Given the description of an element on the screen output the (x, y) to click on. 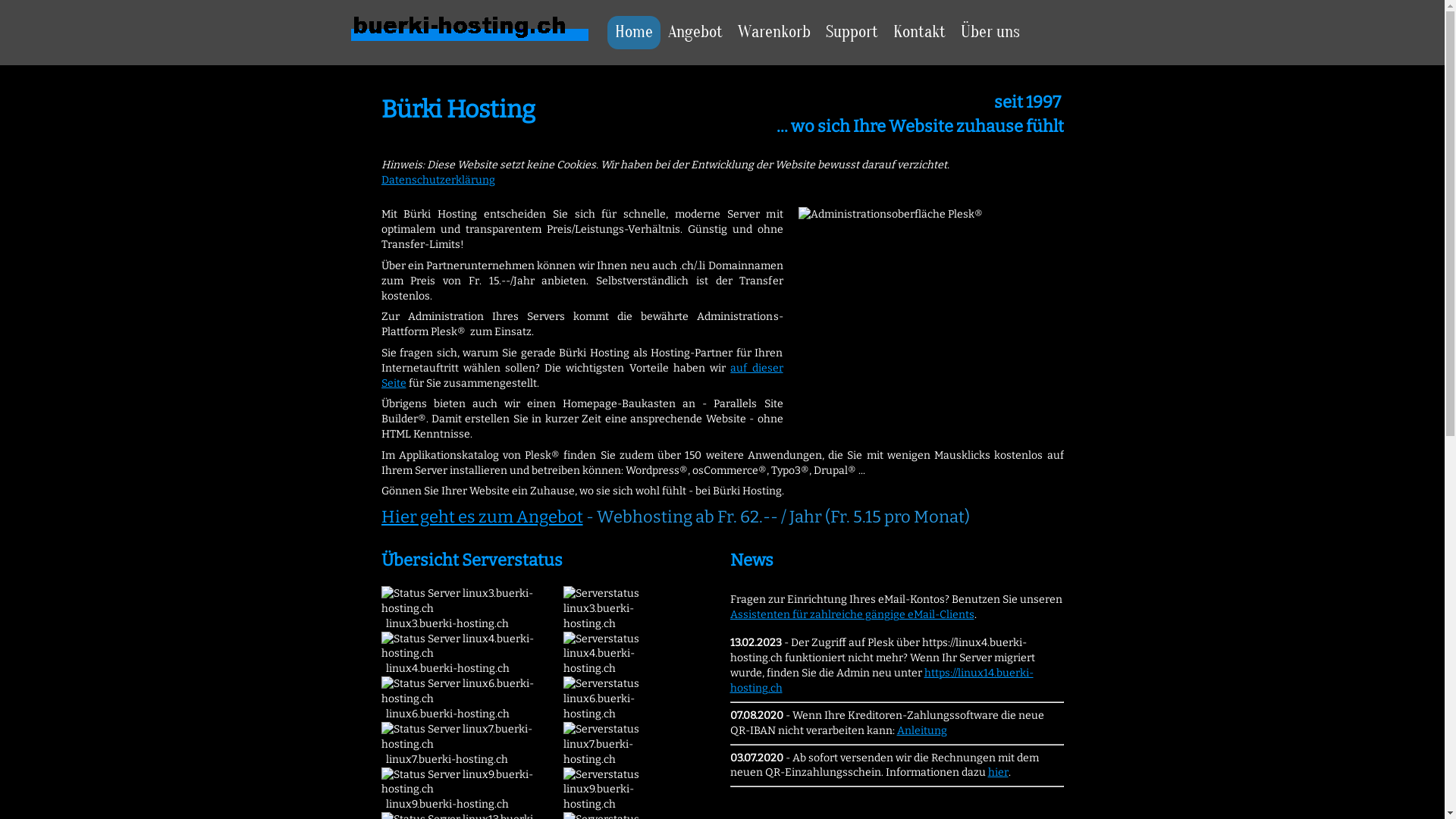
https://linux14.buerki-hosting.ch Element type: text (880, 680)
Angebot Element type: text (695, 32)
Anleitung Element type: text (921, 730)
Support Element type: text (851, 32)
auf dieser Seite Element type: text (581, 375)
Home Element type: text (633, 32)
hier Element type: text (997, 771)
Kontakt Element type: text (919, 32)
Warenkorb Element type: text (774, 32)
Hier geht es zum Angebot Element type: text (481, 516)
